Given the description of an element on the screen output the (x, y) to click on. 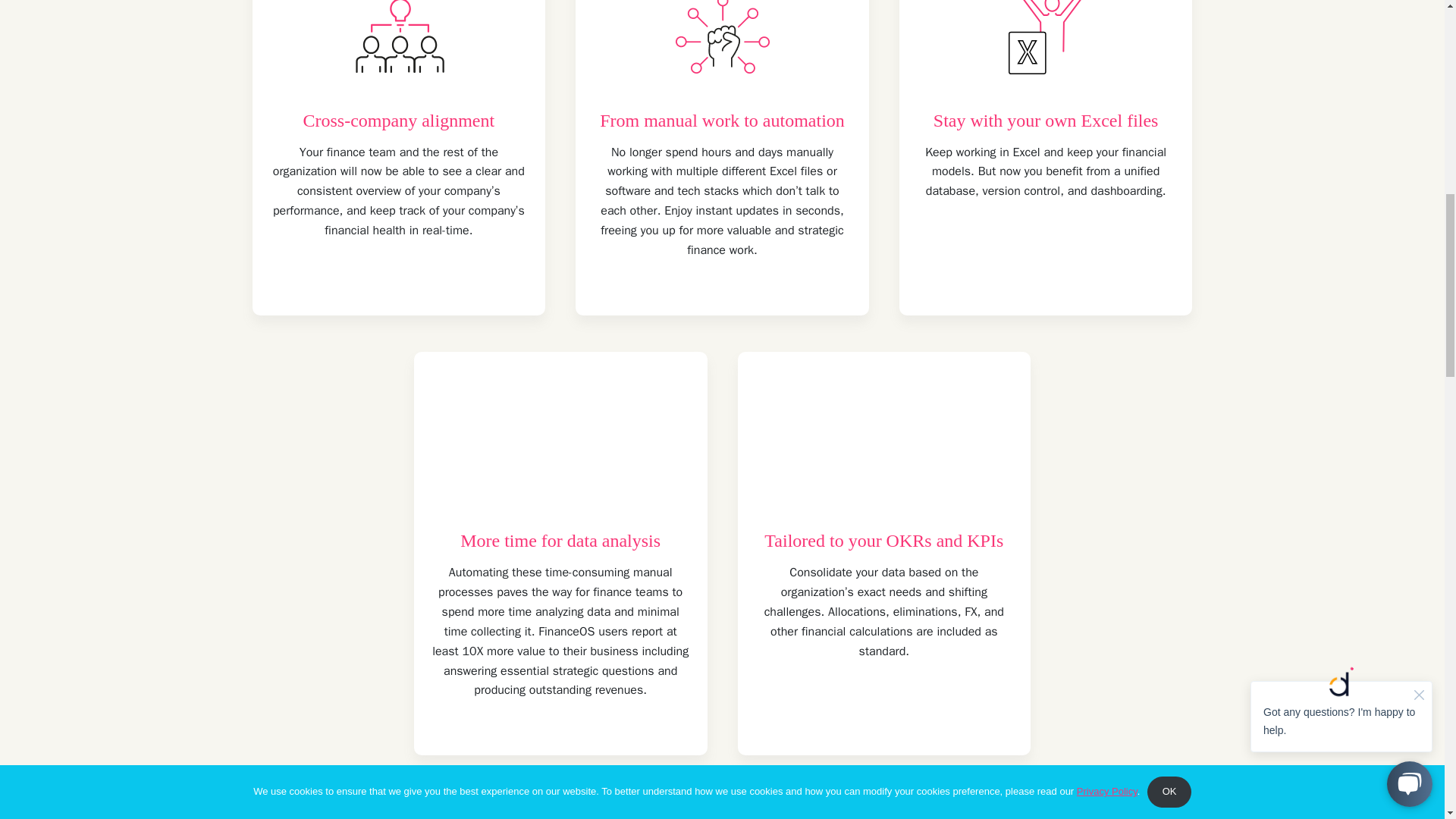
Frame 96539 (1045, 47)
Frame 96540 (560, 454)
Frame 96541 (883, 454)
